Given the description of an element on the screen output the (x, y) to click on. 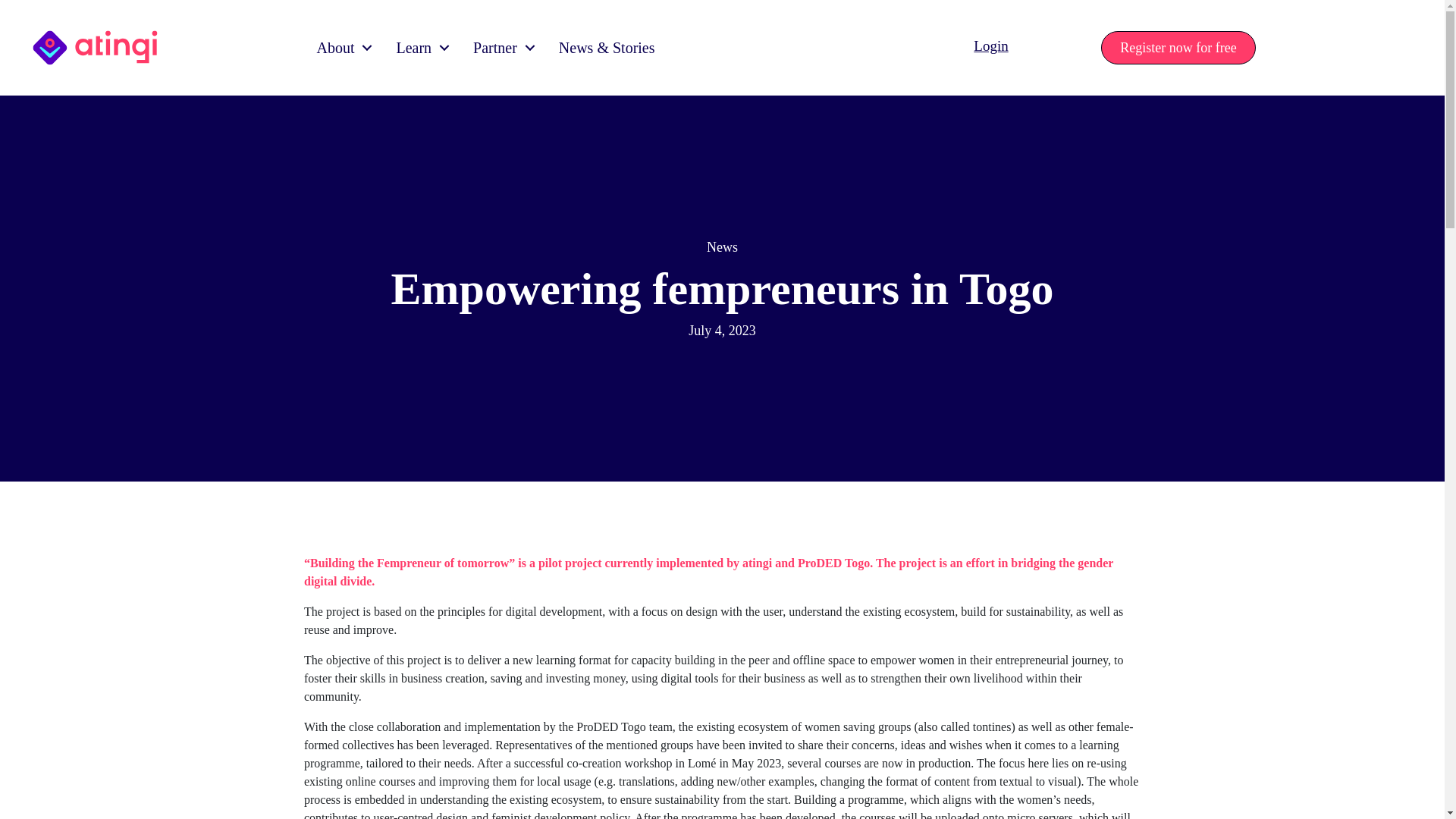
Register now for free (1177, 47)
About (340, 47)
atingi-full-colour-logo (95, 47)
Login (990, 45)
Learn (418, 47)
Partner (500, 47)
